Given the description of an element on the screen output the (x, y) to click on. 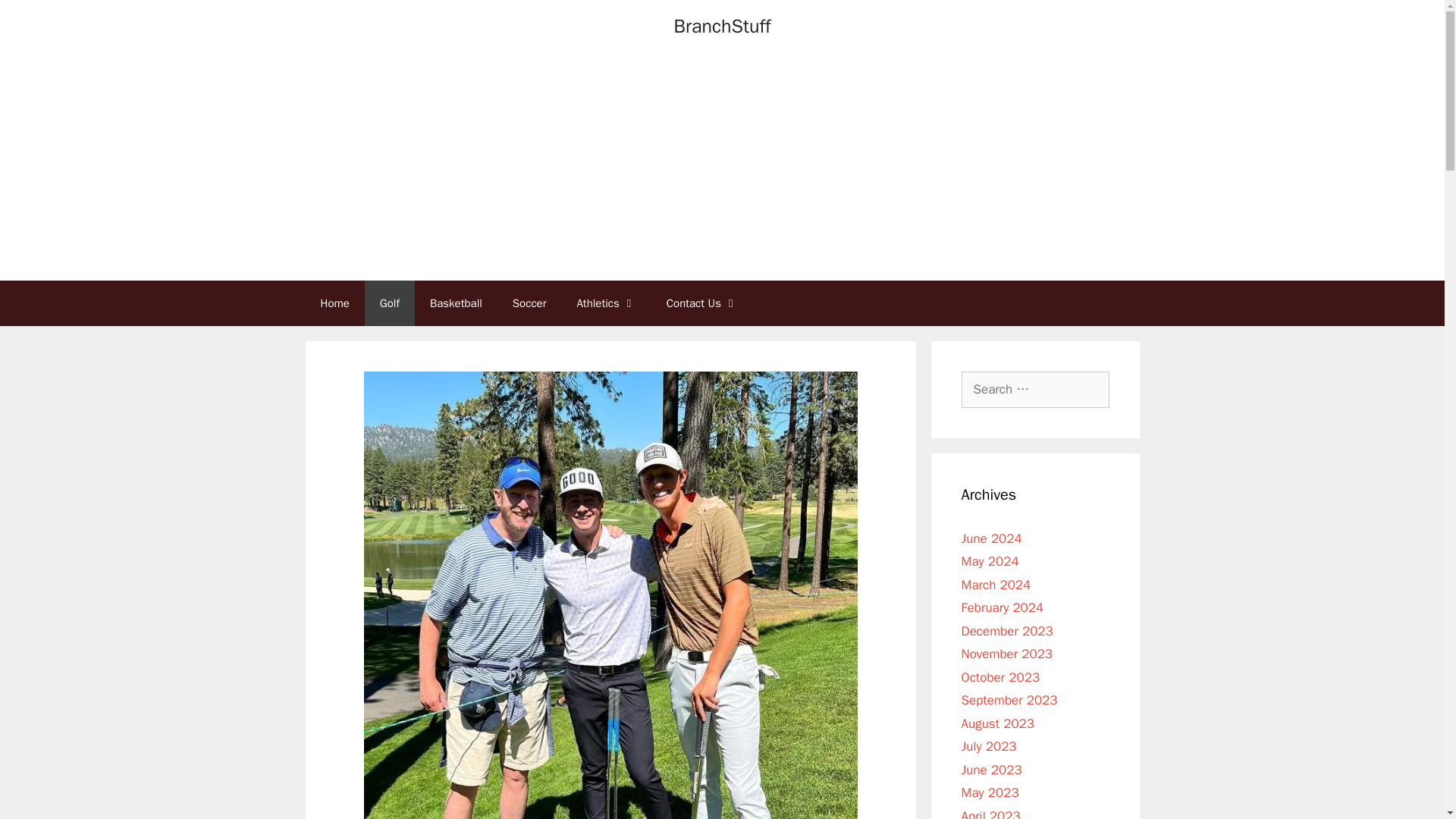
BranchStuff (722, 25)
September 2023 (1009, 700)
Home (334, 302)
June 2024 (991, 538)
Golf (389, 302)
December 2023 (1006, 631)
Contact Us (701, 302)
August 2023 (996, 723)
June 2023 (991, 769)
March 2024 (995, 584)
